Given the description of an element on the screen output the (x, y) to click on. 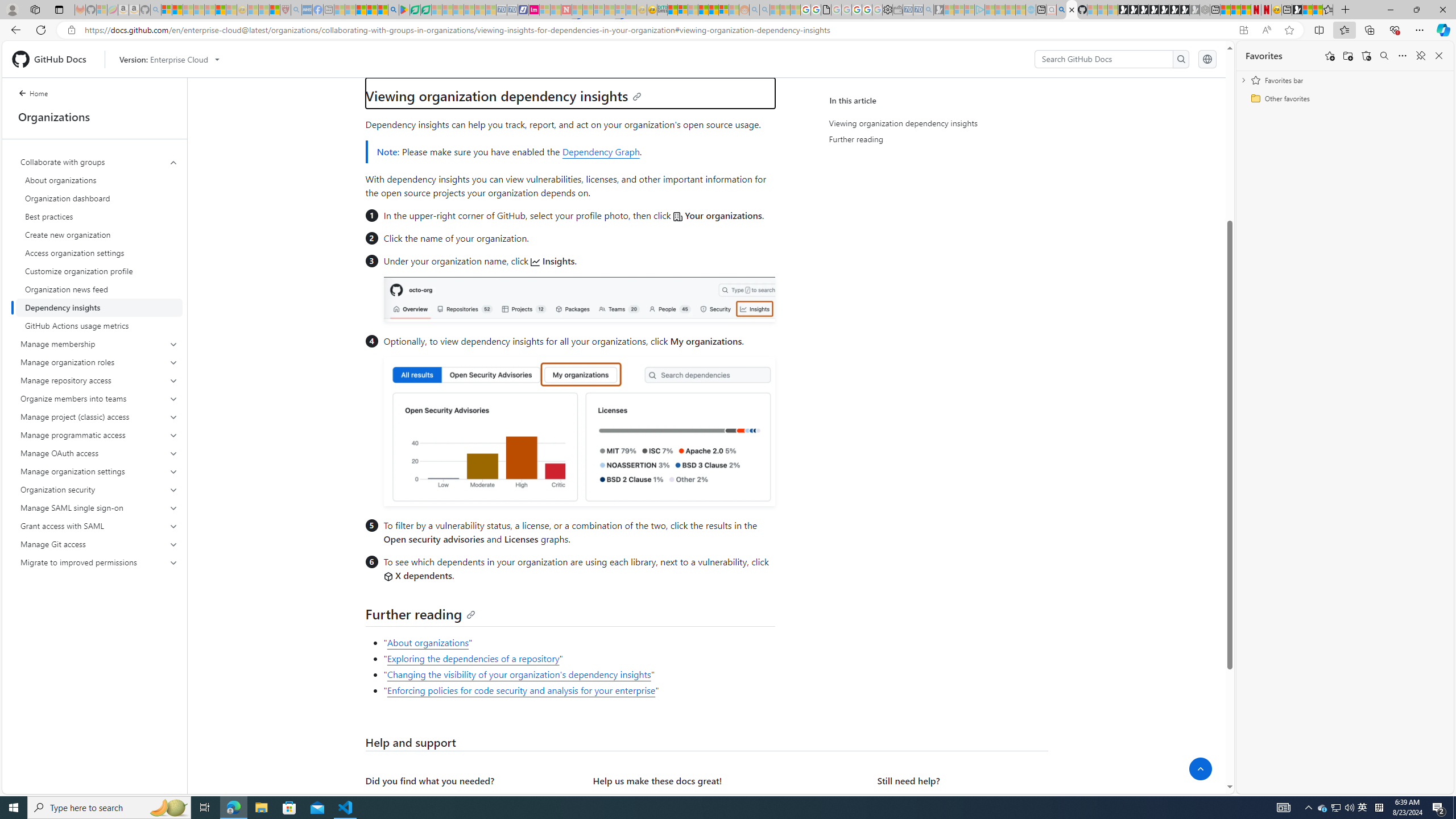
App available. Install GitHub Docs (1243, 29)
Viewing organization dependency insights (933, 123)
Microsoft Word - consumer-privacy address update 2.2021 (426, 9)
Organize members into teams (99, 398)
About organizations (427, 642)
